Given the description of an element on the screen output the (x, y) to click on. 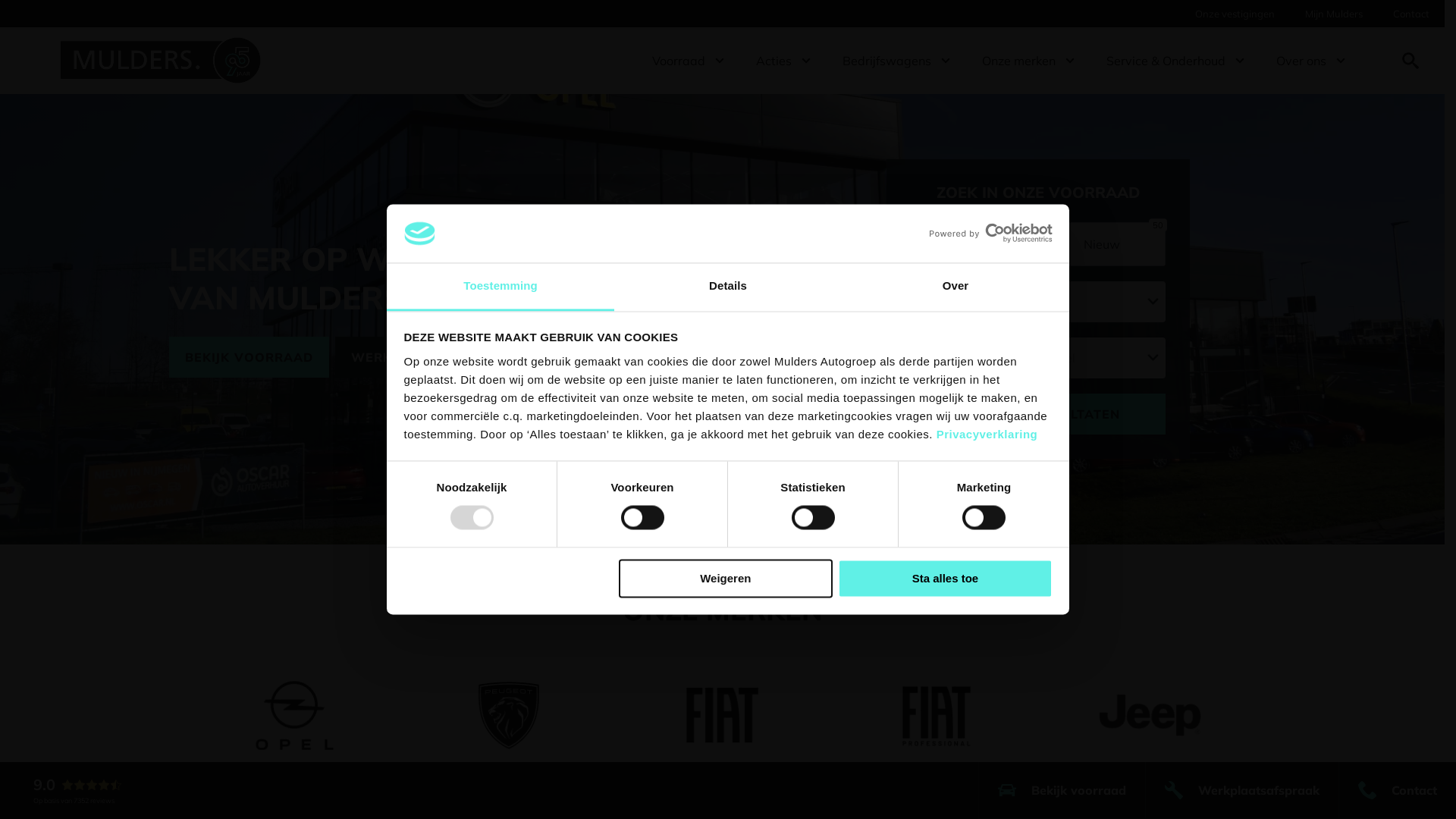
Onze vestigingen Element type: text (1234, 13)
Mijn Mulders Element type: text (1333, 13)
Toestemming Element type: text (500, 286)
Black Friday Element type: hover (728, 409)
Weigeren Element type: text (725, 577)
Werkplaatsafspraak Element type: text (1241, 790)
Bekijk voorraad Element type: text (1061, 790)
Dealer logo Element type: hover (168, 60)
Over Element type: text (955, 286)
9.0
Op basis van 7352 reviews Element type: text (63, 790)
Privacyverklaring Element type: text (987, 433)
BEKIJK VOORRAAD Element type: text (248, 356)
Details Element type: text (727, 286)
https://www.mulders-autogroep.nl/jeep Element type: hover (1150, 715)
WERKPLAATSAFSPRAAK MAKEN Element type: text (461, 356)
Sta alles toe Element type: text (944, 577)
BEKIJK 330 RESULTATEN Element type: text (1037, 412)
Contact Element type: text (1410, 13)
